Given the description of an element on the screen output the (x, y) to click on. 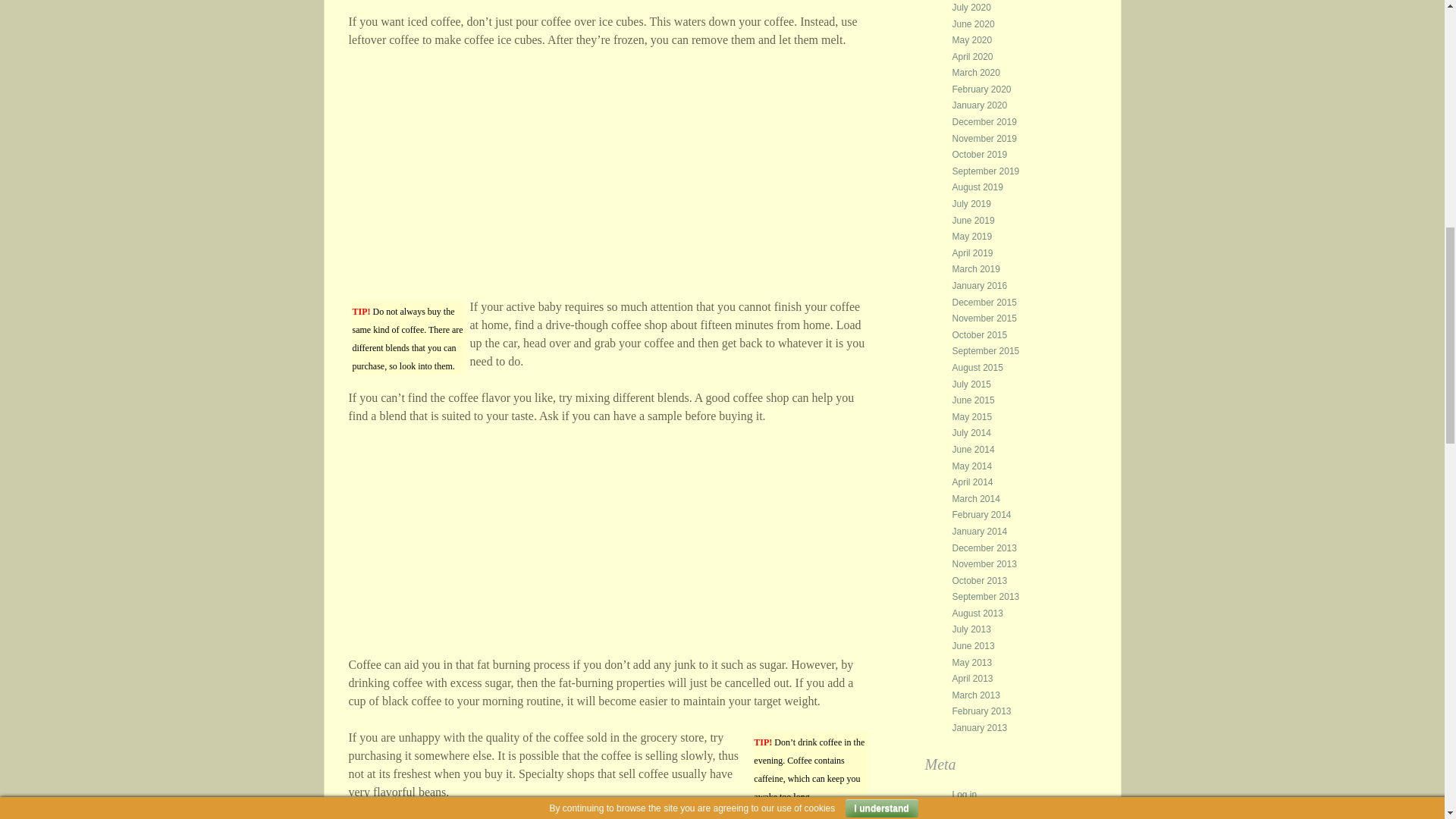
Advertisement (610, 549)
Advertisement (610, 173)
